Given the description of an element on the screen output the (x, y) to click on. 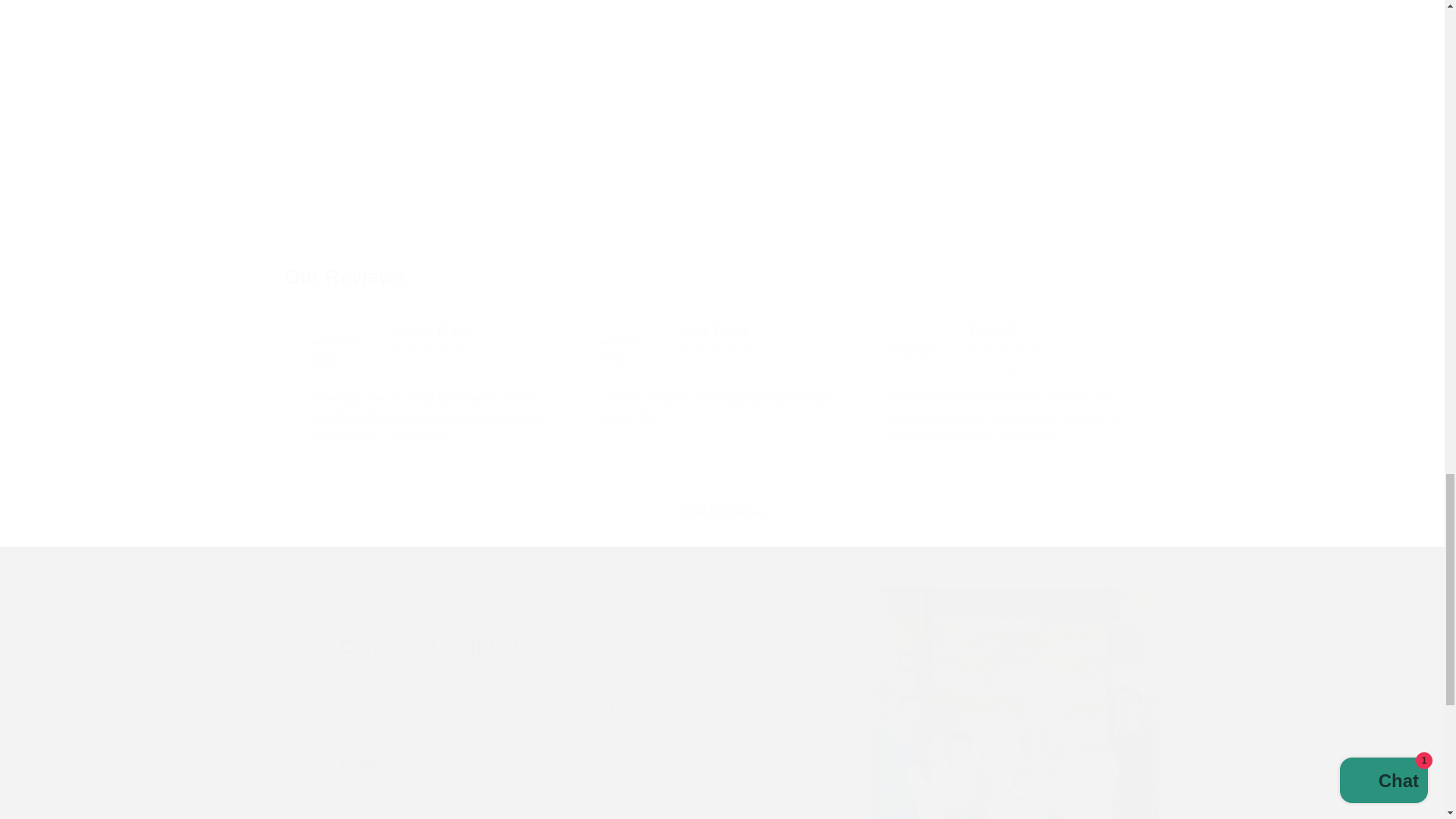
Our Reviews (594, 277)
For Mum (722, 132)
Sale (427, 132)
